Given the description of an element on the screen output the (x, y) to click on. 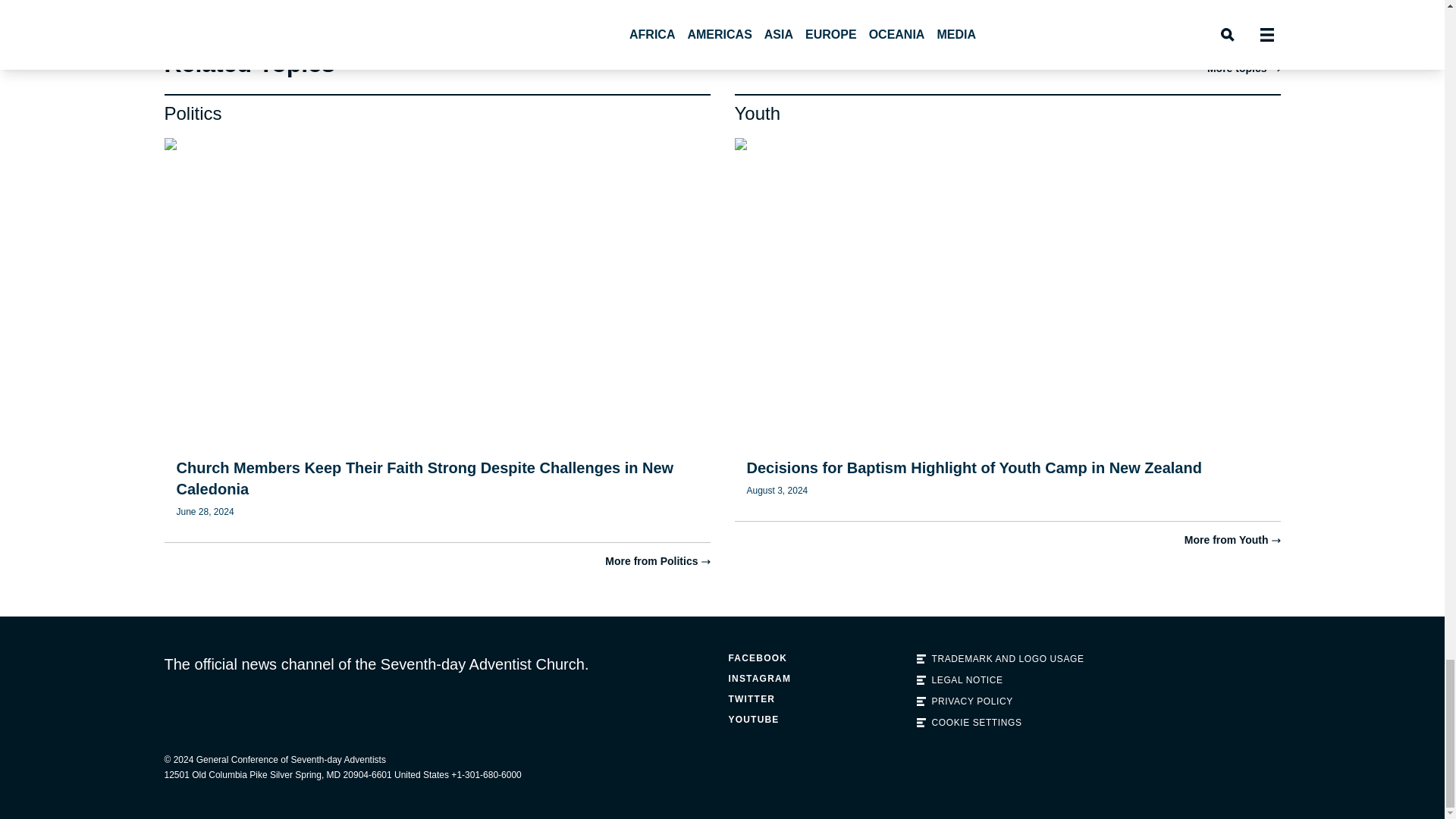
More topics (1244, 68)
FACEBOOK (816, 658)
More from Youth (1233, 540)
TRADEMARK AND LOGO USAGE (1003, 658)
TWITTER (816, 699)
YOUTUBE (816, 719)
More from Politics (657, 561)
Decisions for Baptism Highlight of Youth Camp in New Zealand (973, 467)
INSTAGRAM (816, 678)
